Given the description of an element on the screen output the (x, y) to click on. 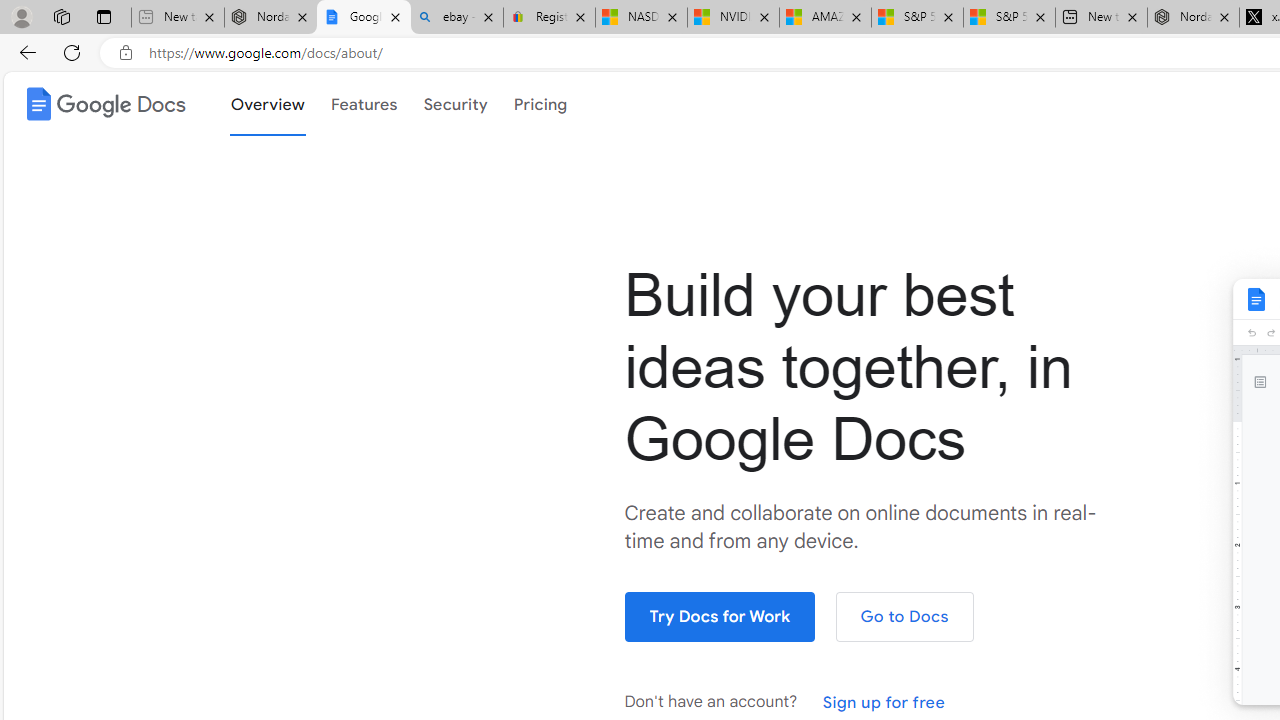
Go to Docs (904, 616)
Features (363, 102)
docs icon (38, 103)
Security (454, 102)
Google Docs (102, 103)
Pricing (540, 103)
Features (363, 103)
